Given the description of an element on the screen output the (x, y) to click on. 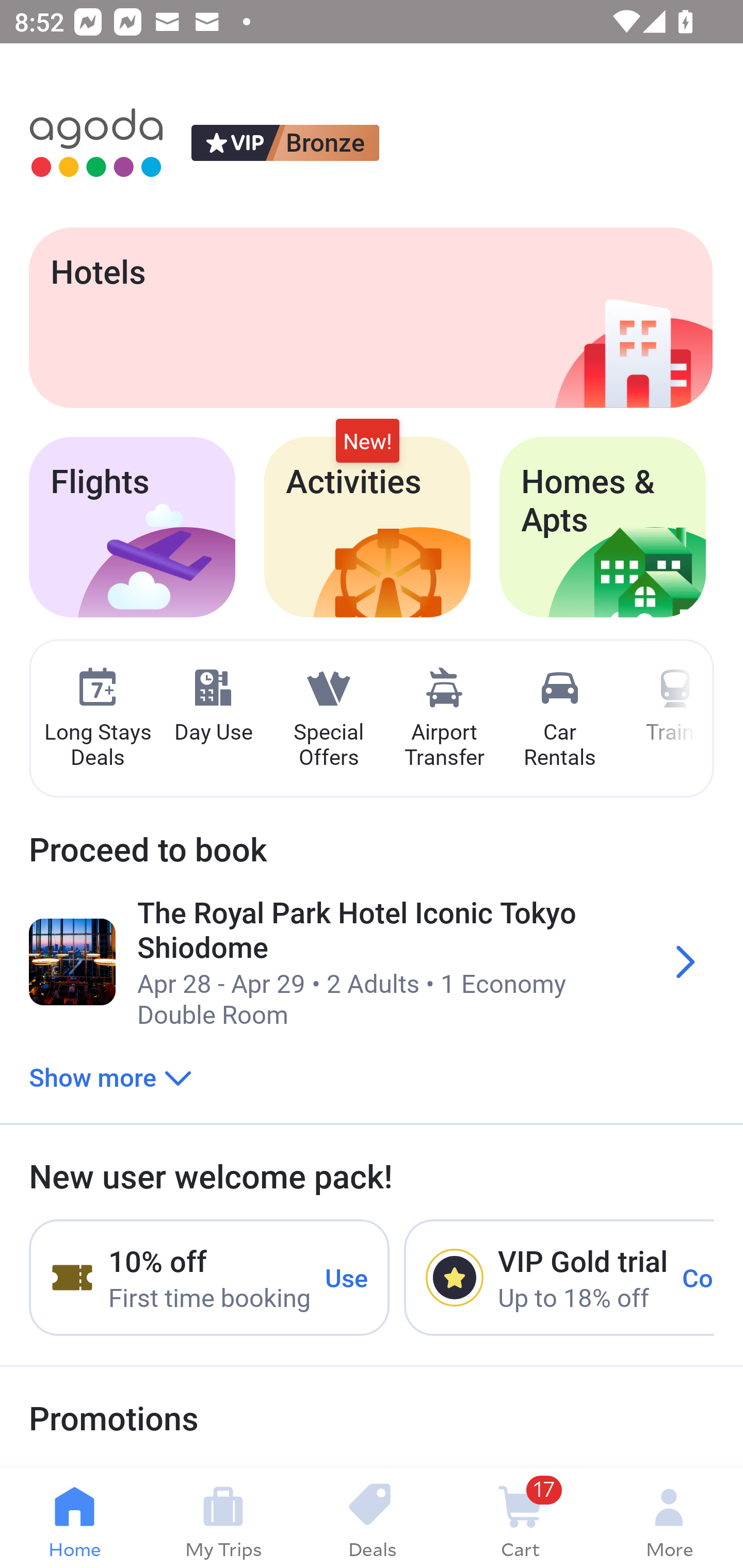
Hotels (370, 317)
New! (367, 441)
Flights (131, 527)
Activities (367, 527)
Homes & Apts (602, 527)
Day Use (213, 706)
Long Stays Deals (97, 718)
Special Offers (328, 718)
Airport Transfer (444, 718)
Car Rentals (559, 718)
Show more (110, 1076)
Use (346, 1277)
Home (74, 1518)
My Trips (222, 1518)
Deals (371, 1518)
17 Cart (519, 1518)
More (668, 1518)
